Given the description of an element on the screen output the (x, y) to click on. 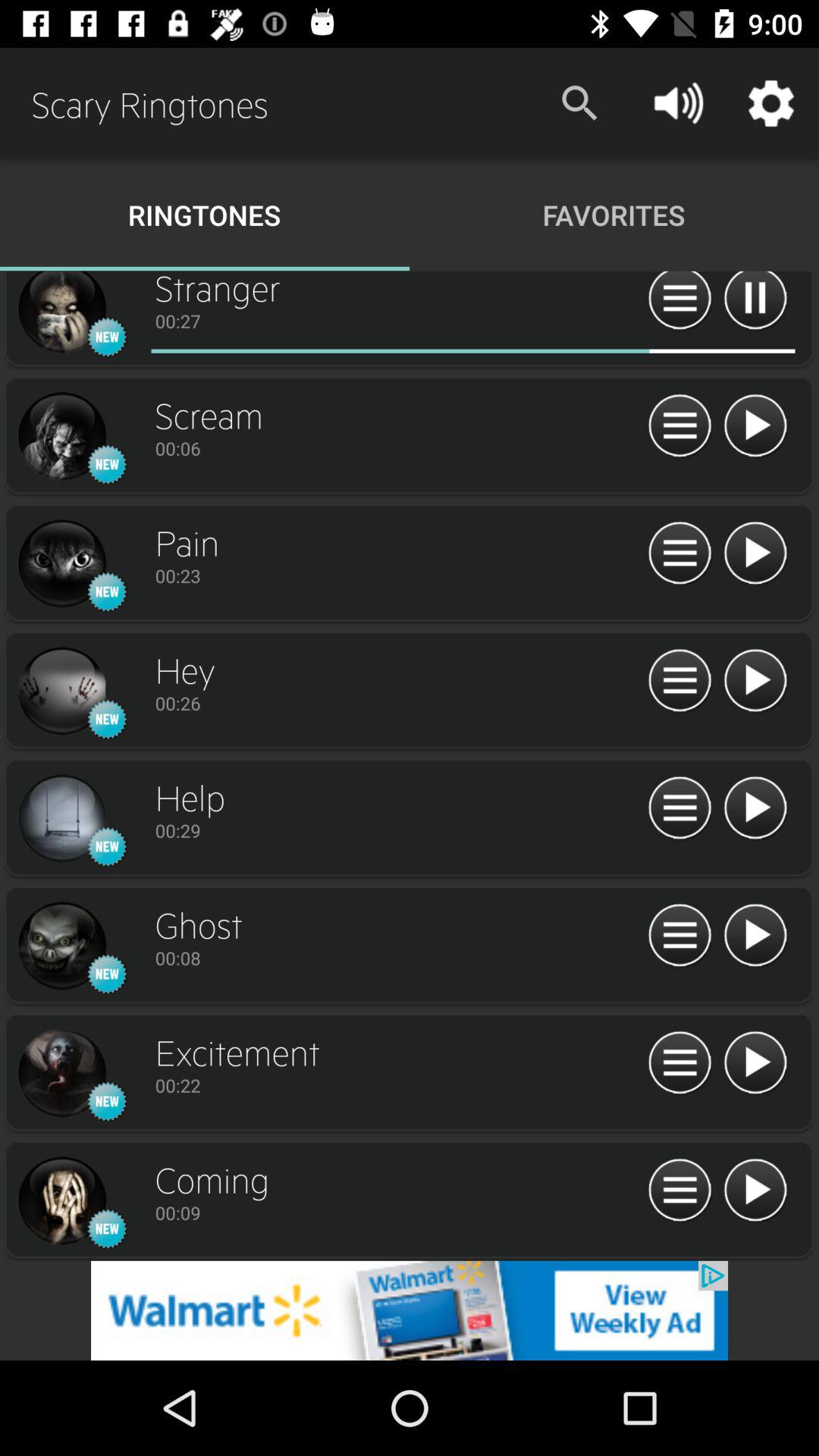
open track (61, 436)
